Given the description of an element on the screen output the (x, y) to click on. 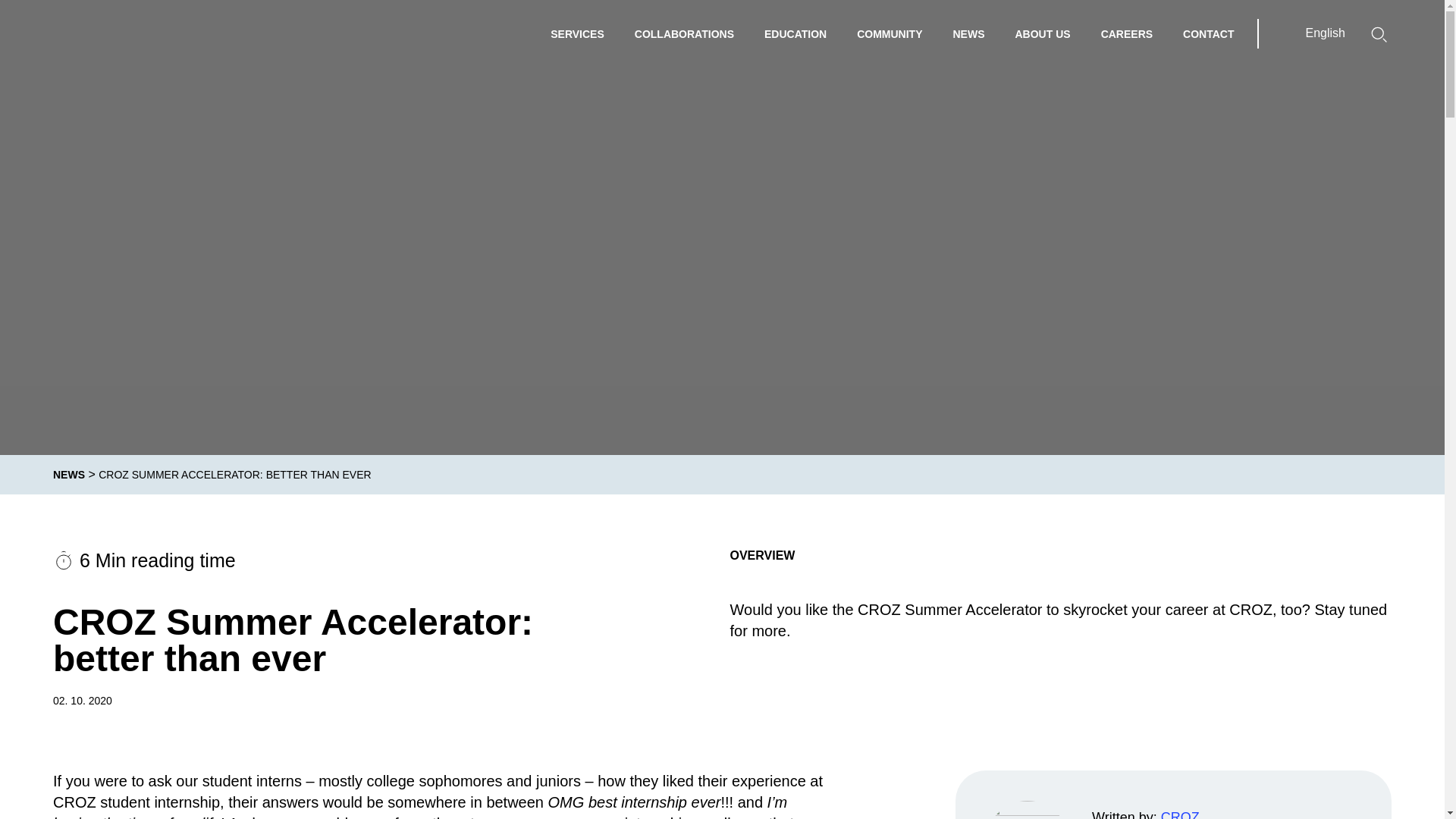
CROZ (1179, 814)
COLLABORATIONS (684, 32)
CAREERS (1126, 32)
ABOUT US (1042, 32)
EDUCATION (795, 32)
NEWS (68, 474)
COMMUNITY (889, 32)
NEWS (968, 32)
CONTACT (1208, 32)
Go to News. (68, 474)
